Given the description of an element on the screen output the (x, y) to click on. 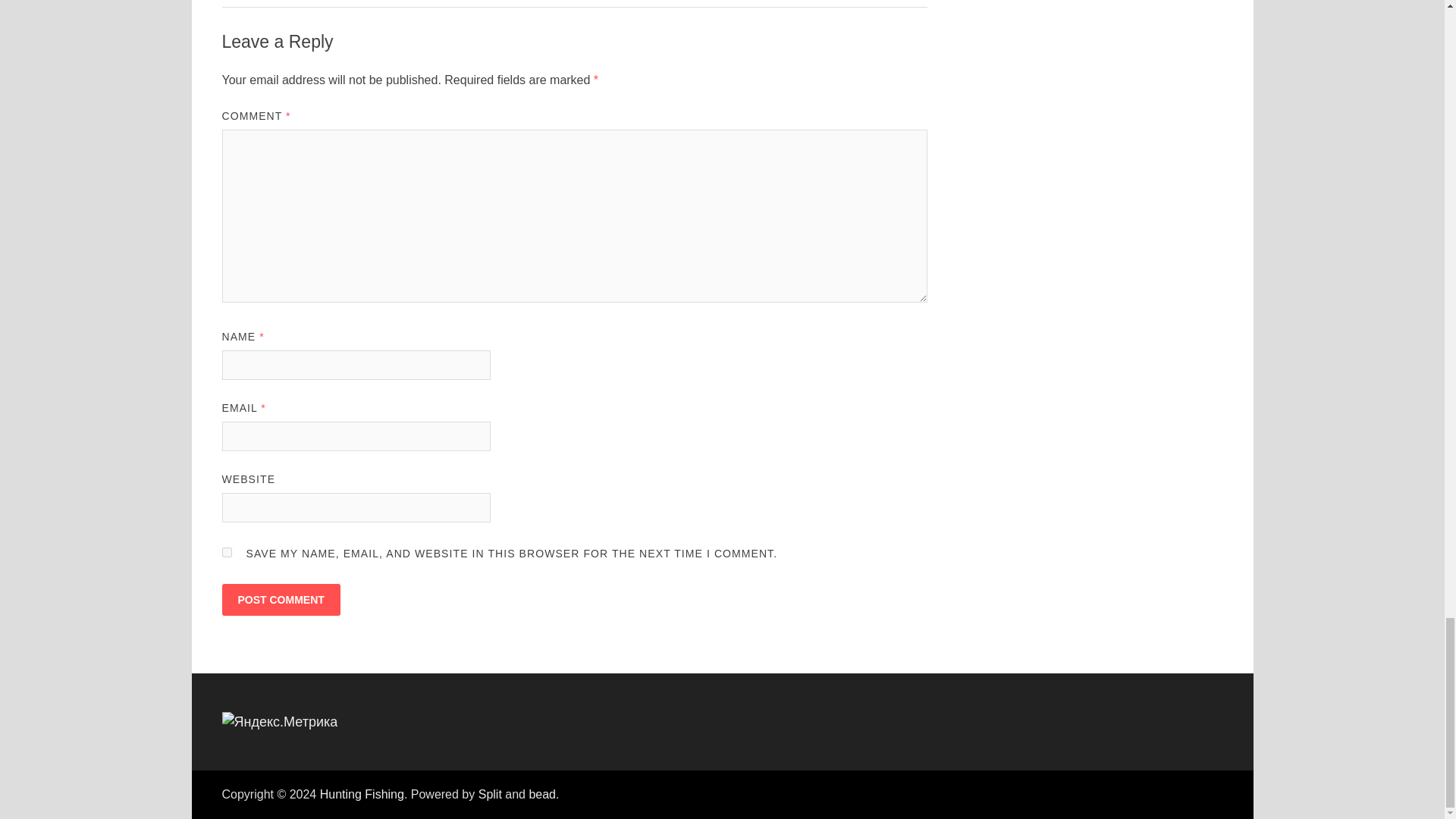
Post Comment (280, 599)
Hunting Fishing (362, 793)
yes (226, 552)
Split (490, 793)
Post Comment (280, 599)
bead (542, 793)
